Given the description of an element on the screen output the (x, y) to click on. 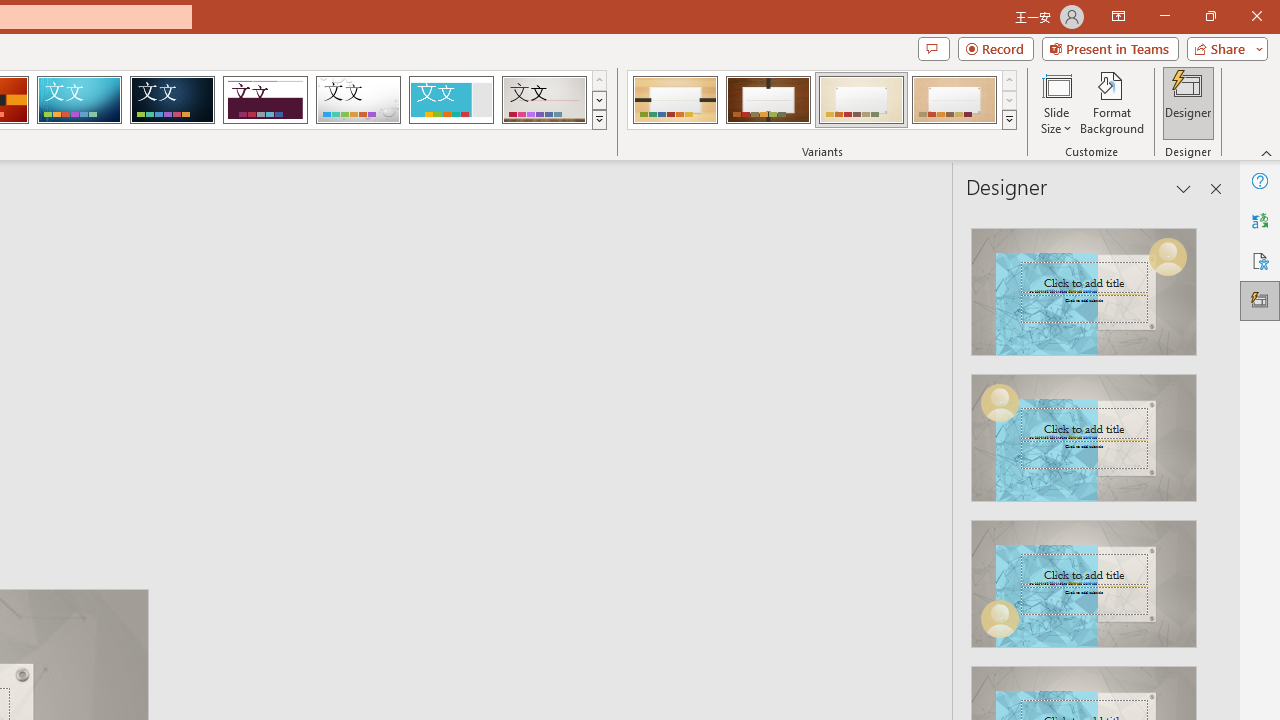
Dividend (265, 100)
Variants (1009, 120)
Droplet (358, 100)
Organic Variant 2 (768, 100)
Design Idea (1083, 577)
Themes (598, 120)
